Given the description of an element on the screen output the (x, y) to click on. 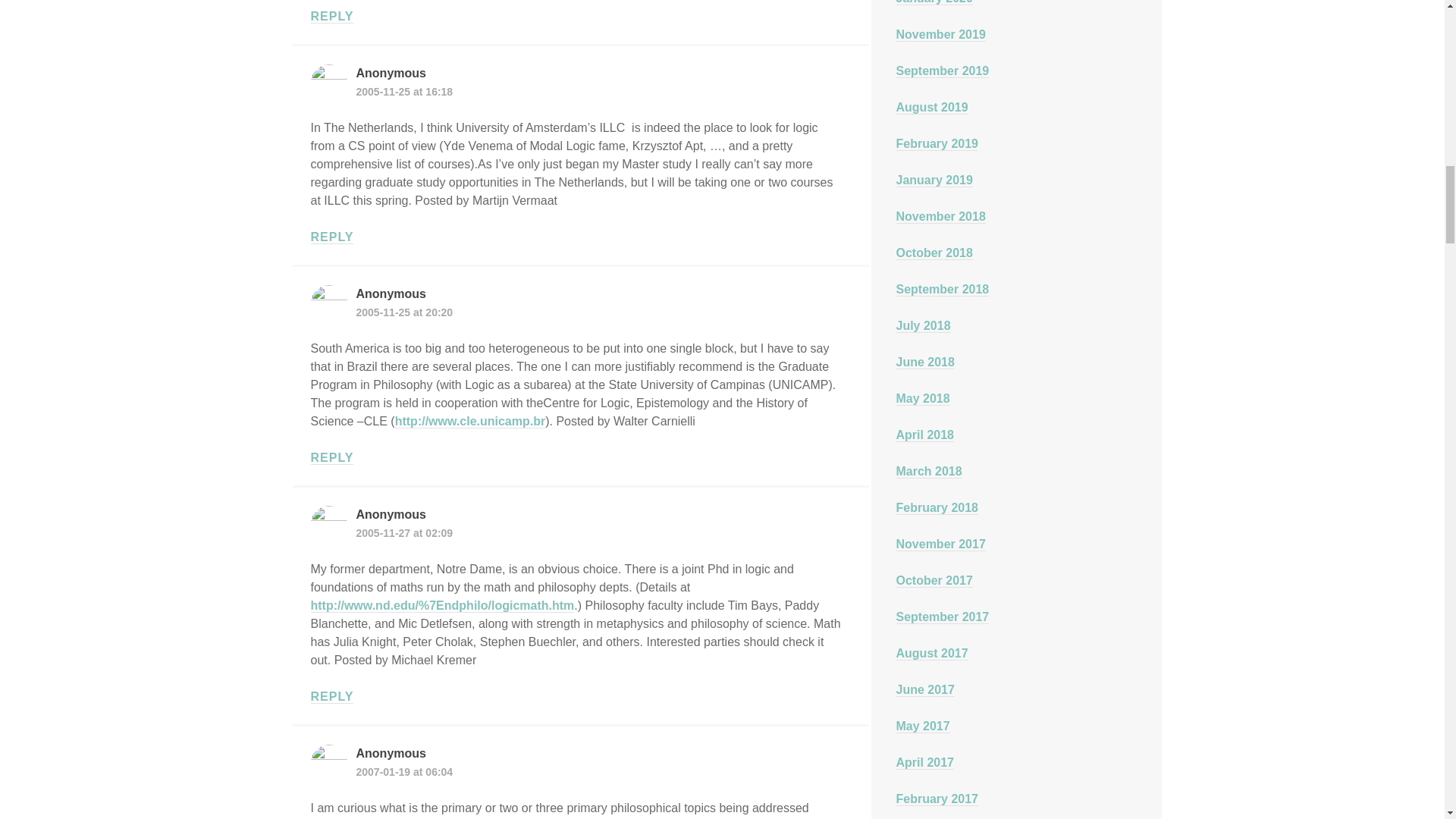
REPLY (332, 458)
REPLY (332, 16)
2005-11-25 at 16:18 (404, 91)
2005-11-27 at 02:09 (404, 532)
REPLY (332, 696)
2007-01-19 at 06:04 (404, 771)
REPLY (332, 237)
2005-11-25 at 20:20 (404, 312)
